Given the description of an element on the screen output the (x, y) to click on. 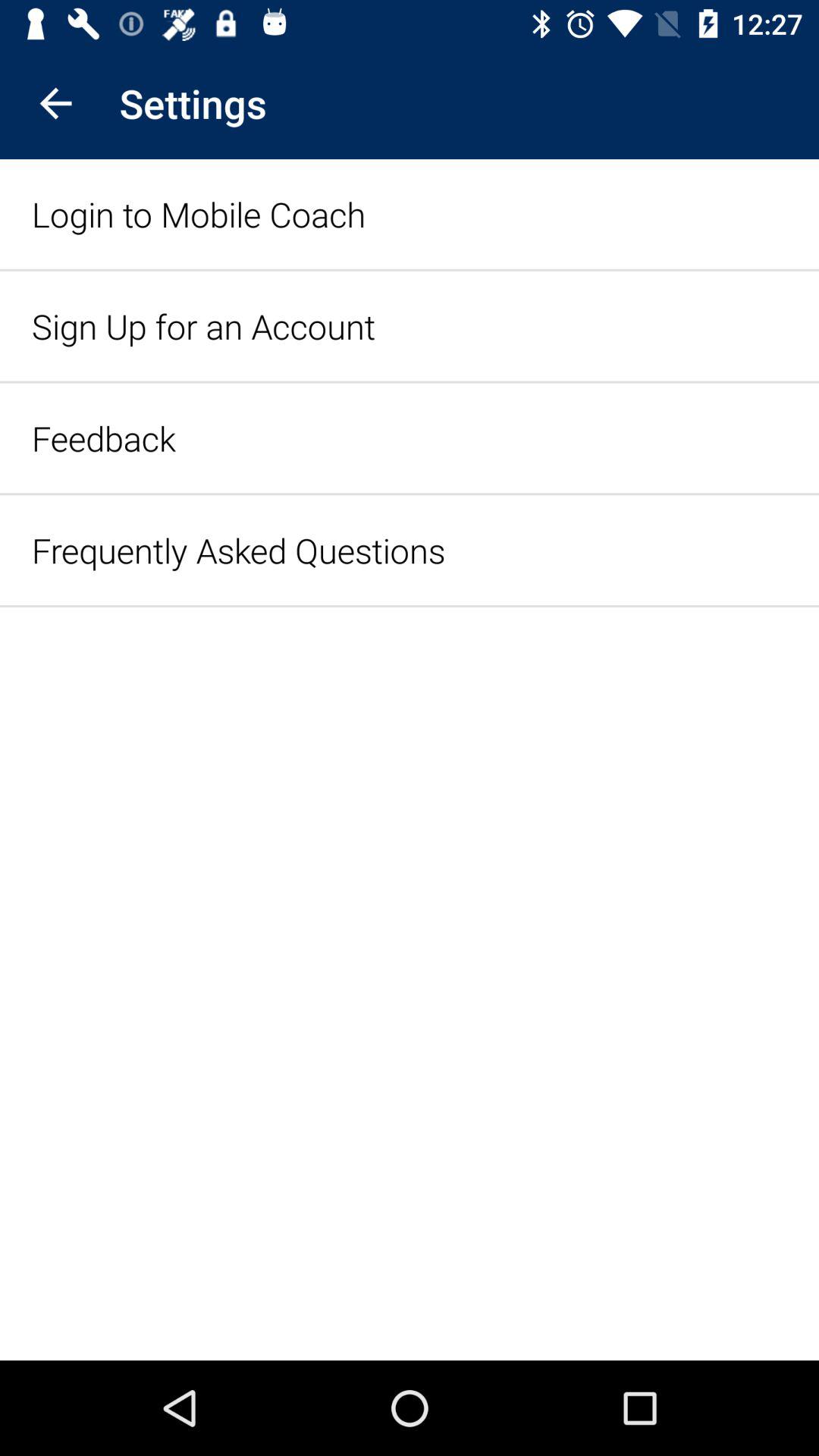
flip until login to mobile icon (198, 214)
